Given the description of an element on the screen output the (x, y) to click on. 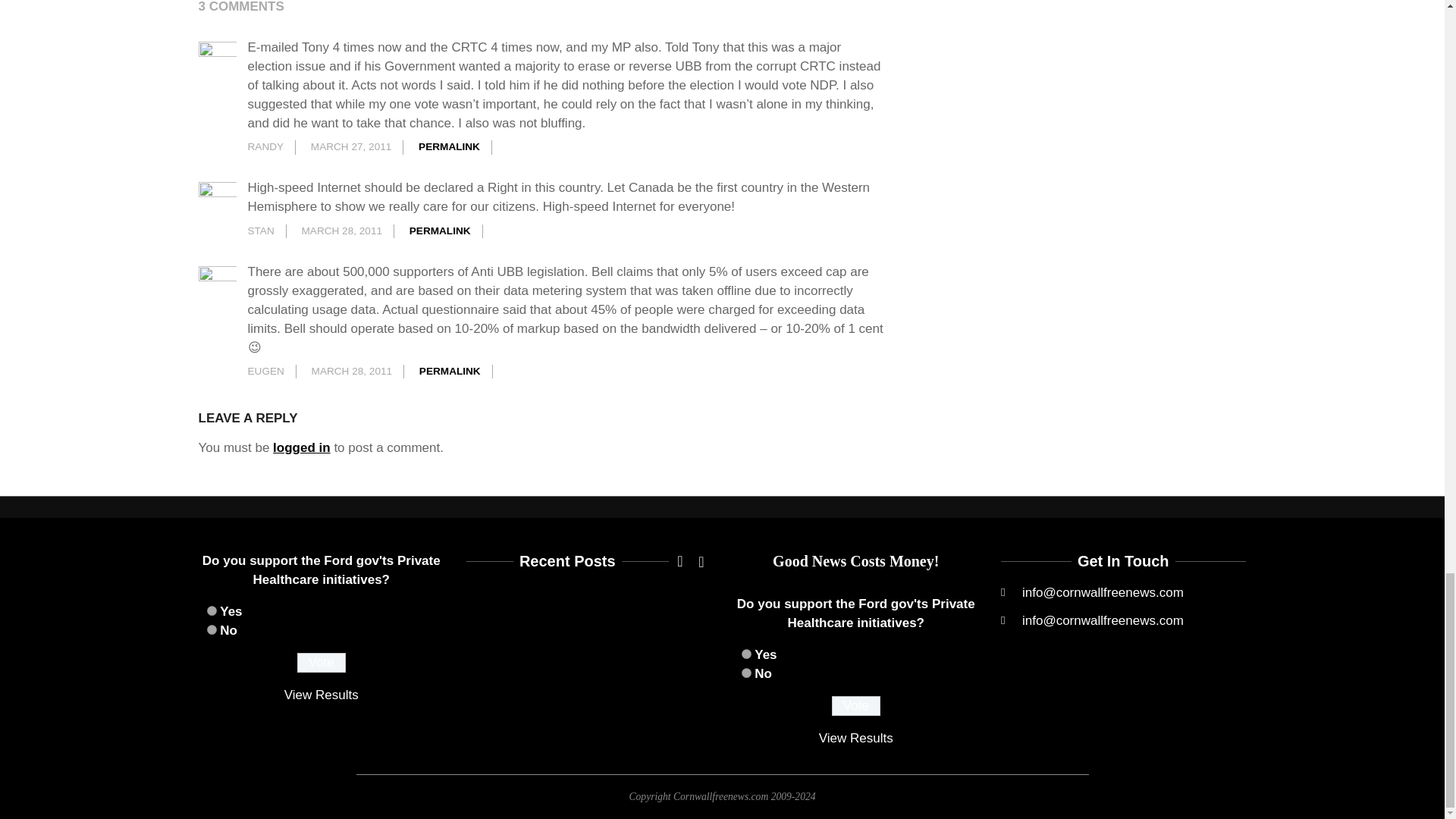
View Results Of This Poll (320, 694)
Monday, March 28, 2011, 11:05 am (352, 370)
1776 (746, 654)
Sunday, March 27, 2011, 10:55 pm (351, 146)
1777 (210, 629)
Monday, March 28, 2011, 5:57 am (341, 230)
1777 (746, 673)
   Vote    (855, 705)
1776 (210, 610)
   Vote    (321, 662)
